Given the description of an element on the screen output the (x, y) to click on. 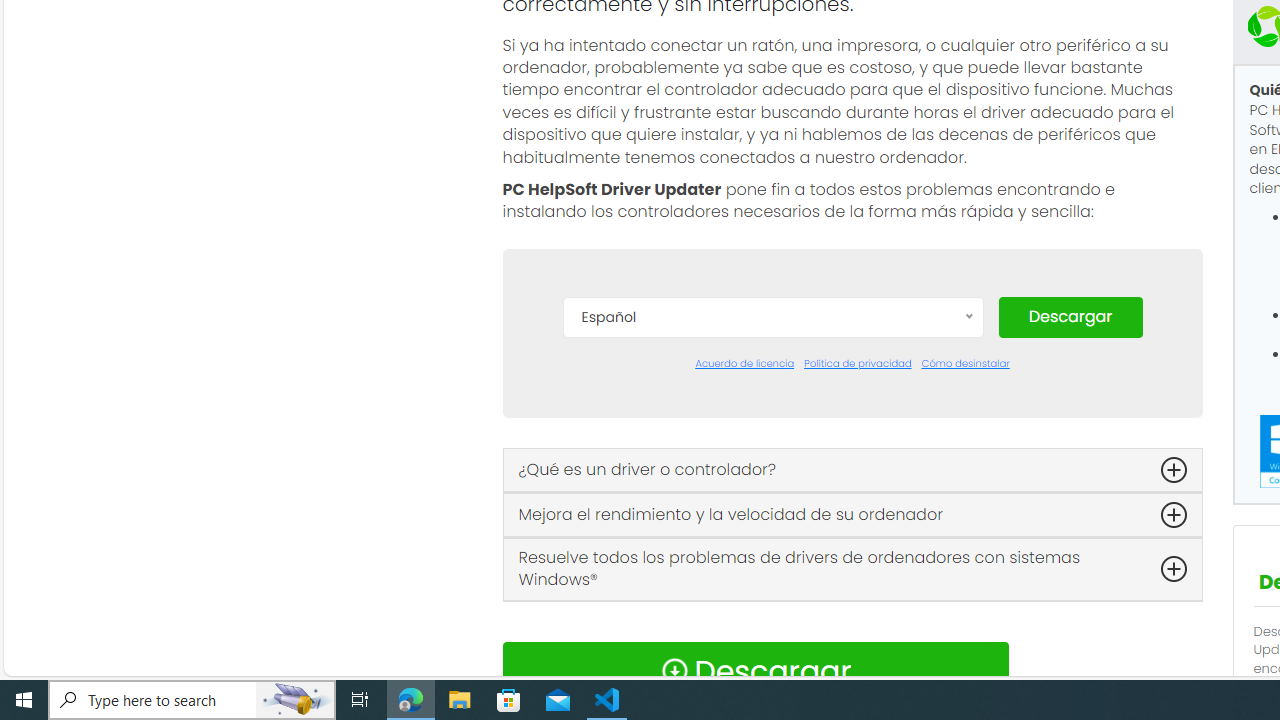
Nederlands (772, 621)
Acuerdo de licencia (744, 363)
Italiano (772, 591)
Descargar (1070, 316)
English (772, 501)
Download Icon (674, 670)
Download Icon Descargar (754, 670)
Deutsch (772, 472)
Norsk (772, 652)
